Given the description of an element on the screen output the (x, y) to click on. 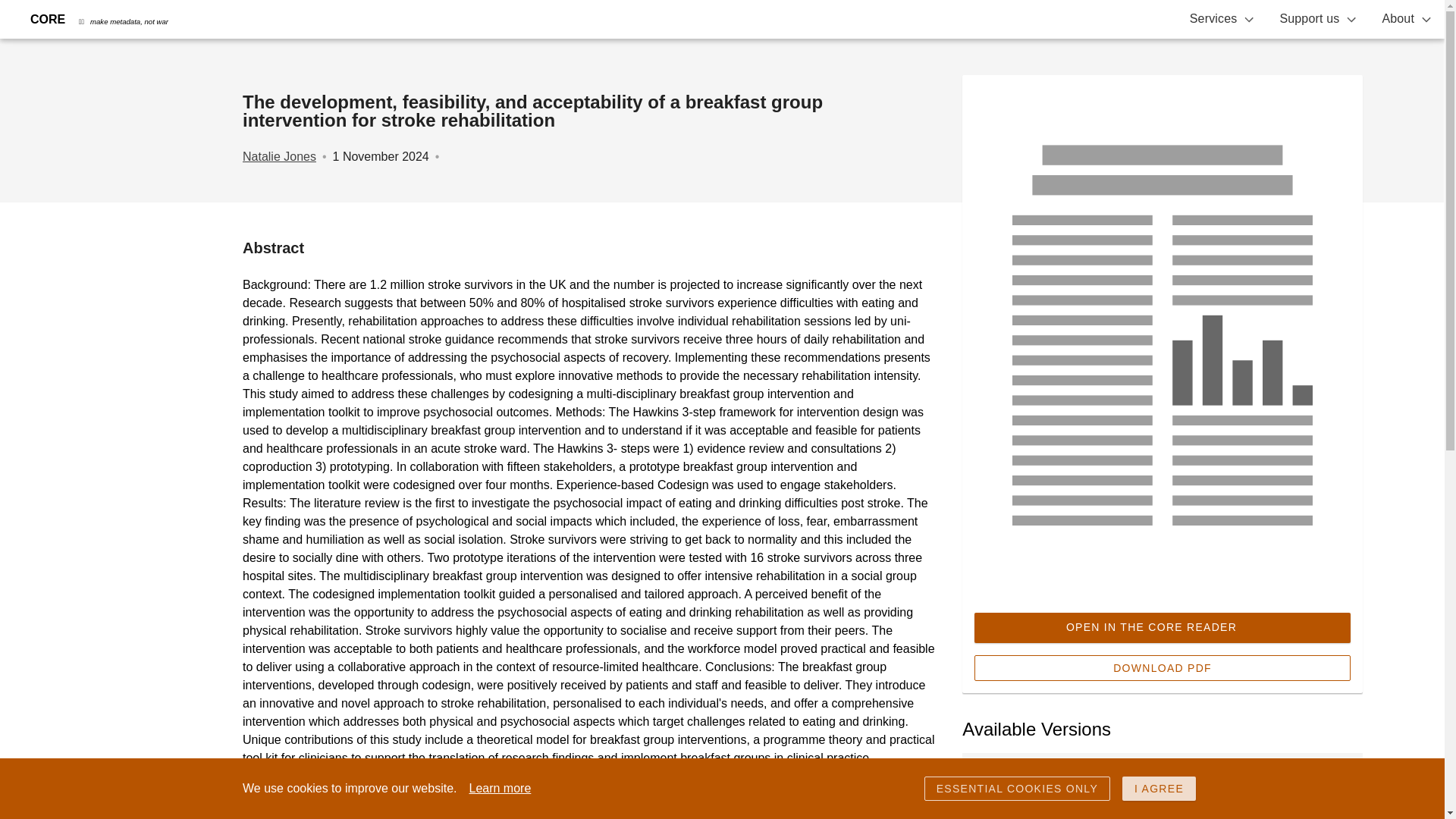
Support us (1318, 19)
Services (1222, 19)
Natalie Jones (279, 155)
Go to the repository landing page (1079, 805)
OPEN IN THE CORE READER (1162, 627)
DOWNLOAD PDF (1162, 667)
Go to the repository landing page (1018, 789)
